Given the description of an element on the screen output the (x, y) to click on. 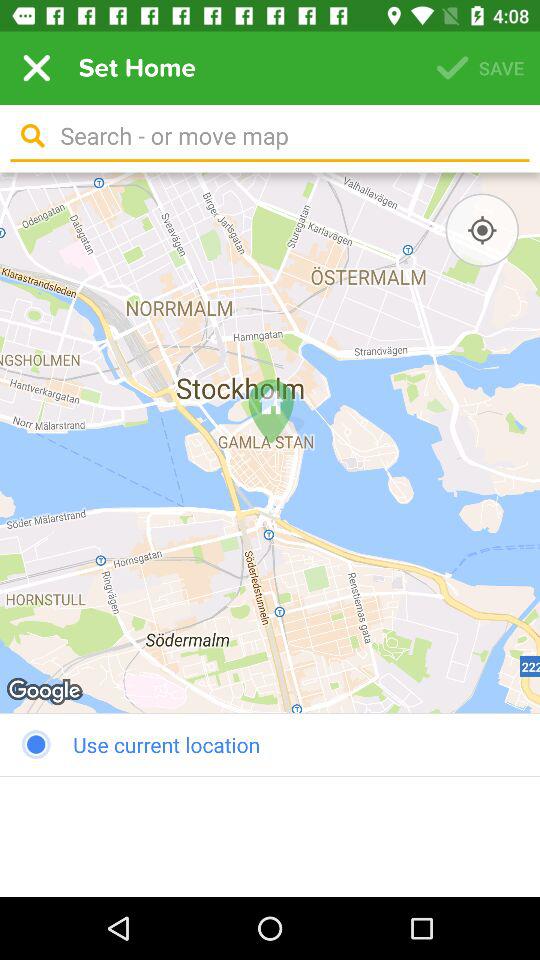
turn on the icon above the use current location icon (482, 229)
